Given the description of an element on the screen output the (x, y) to click on. 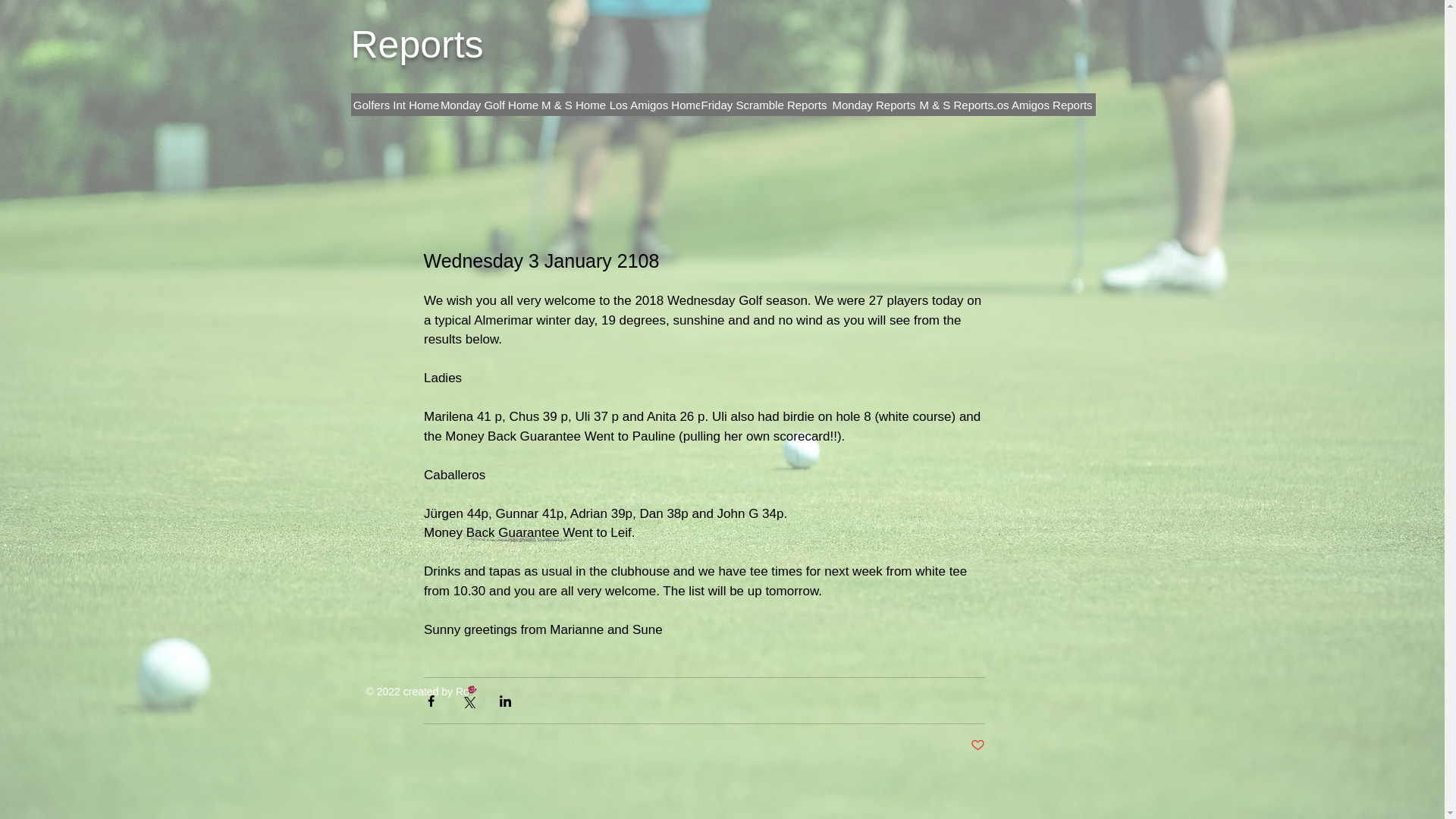
Contact (989, 104)
Golfers Int Home (395, 104)
Post not marked as liked (978, 745)
Reports (416, 44)
Friday Scramble Reports (763, 104)
Where We Play (764, 104)
Monday Golf Home (488, 104)
Monday Reports (873, 104)
Golf in Almerimar Home (496, 104)
Los Amigos Home (655, 104)
Los Amigos Reports (1040, 104)
